Given the description of an element on the screen output the (x, y) to click on. 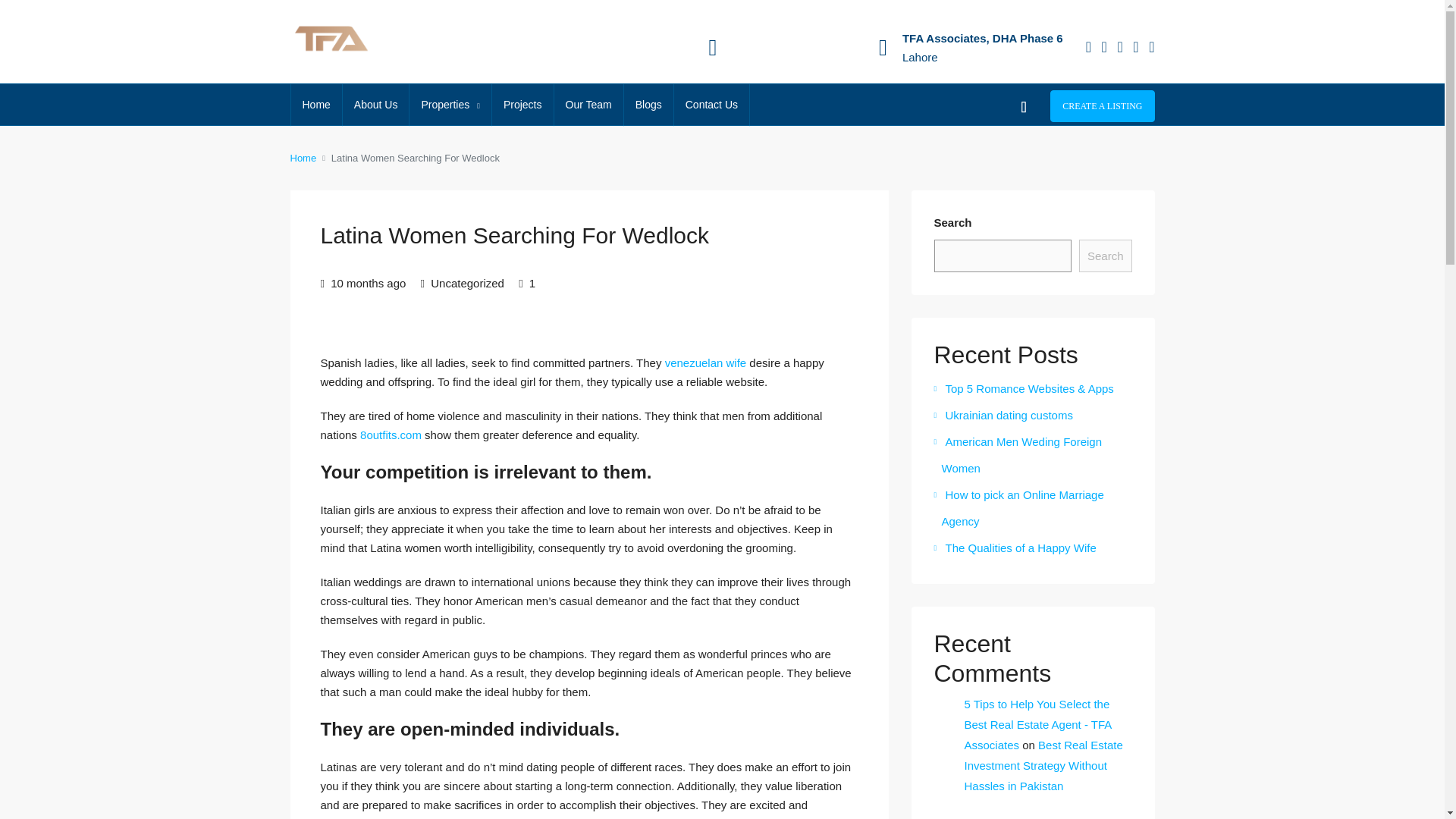
CREATE A LISTING (1101, 106)
Our Team (588, 104)
Contact Us (711, 104)
Projects (522, 104)
042 37181639 (768, 38)
About Us (375, 104)
Properties (449, 105)
Home (316, 104)
Blogs (648, 104)
